Given the description of an element on the screen output the (x, y) to click on. 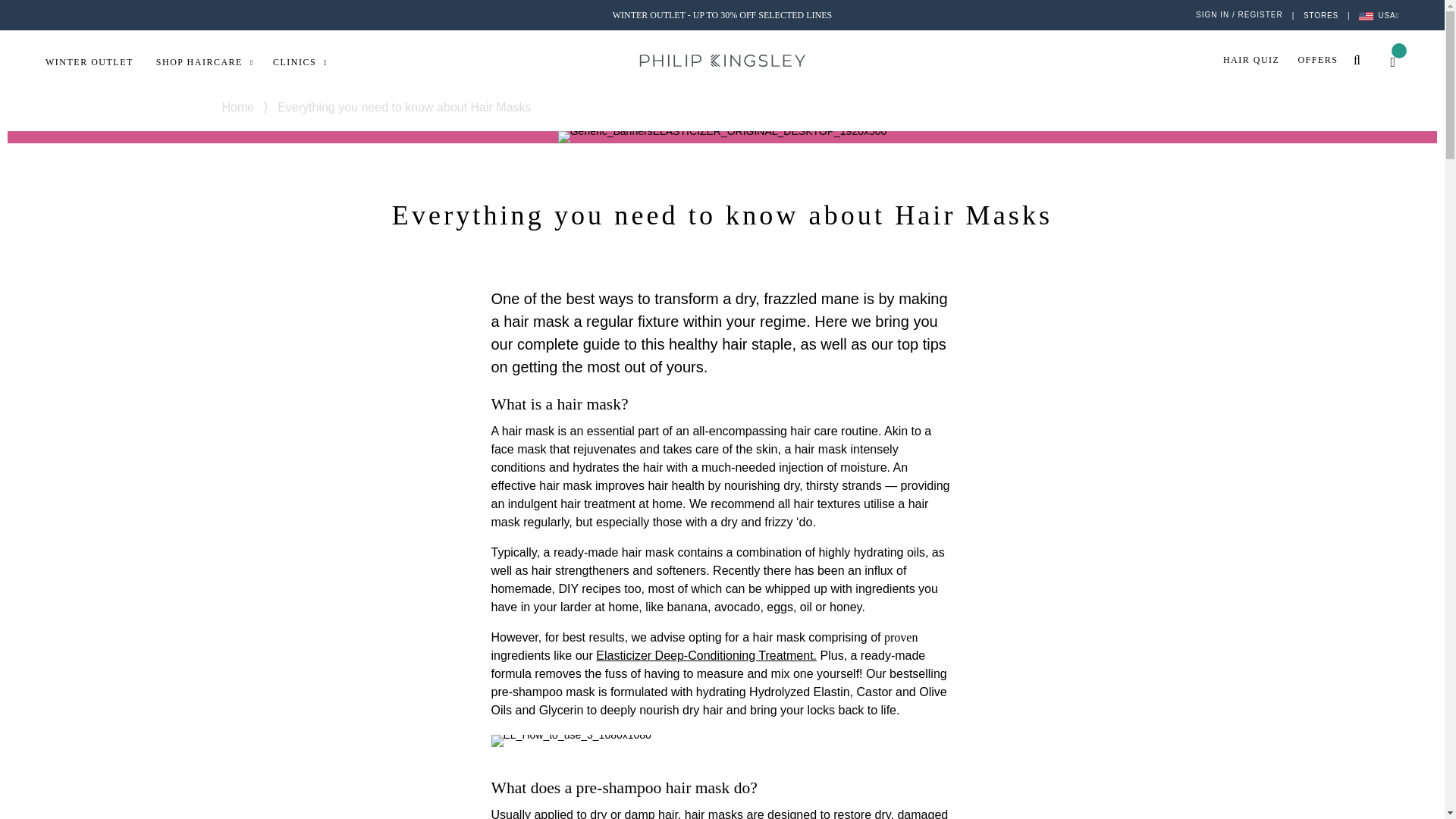
OFFERS (1326, 60)
SHOP HAIRCARE (214, 61)
WINTER OUTLET (100, 62)
HAIR QUIZ (1260, 60)
STORES (1320, 14)
